Given the description of an element on the screen output the (x, y) to click on. 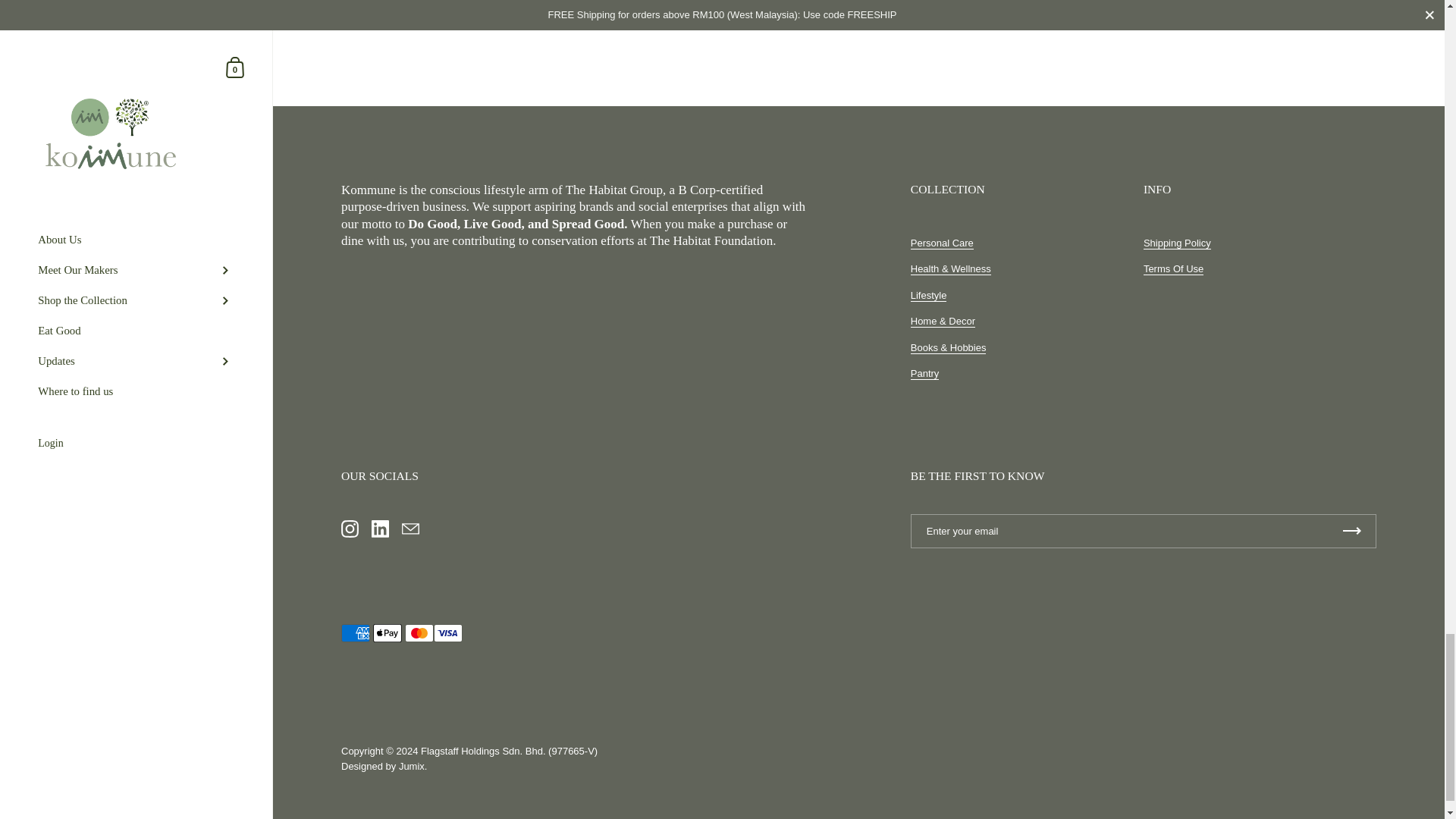
Visa (448, 633)
Mastercard (418, 633)
American Express (354, 633)
Apple Pay (386, 633)
